Given the description of an element on the screen output the (x, y) to click on. 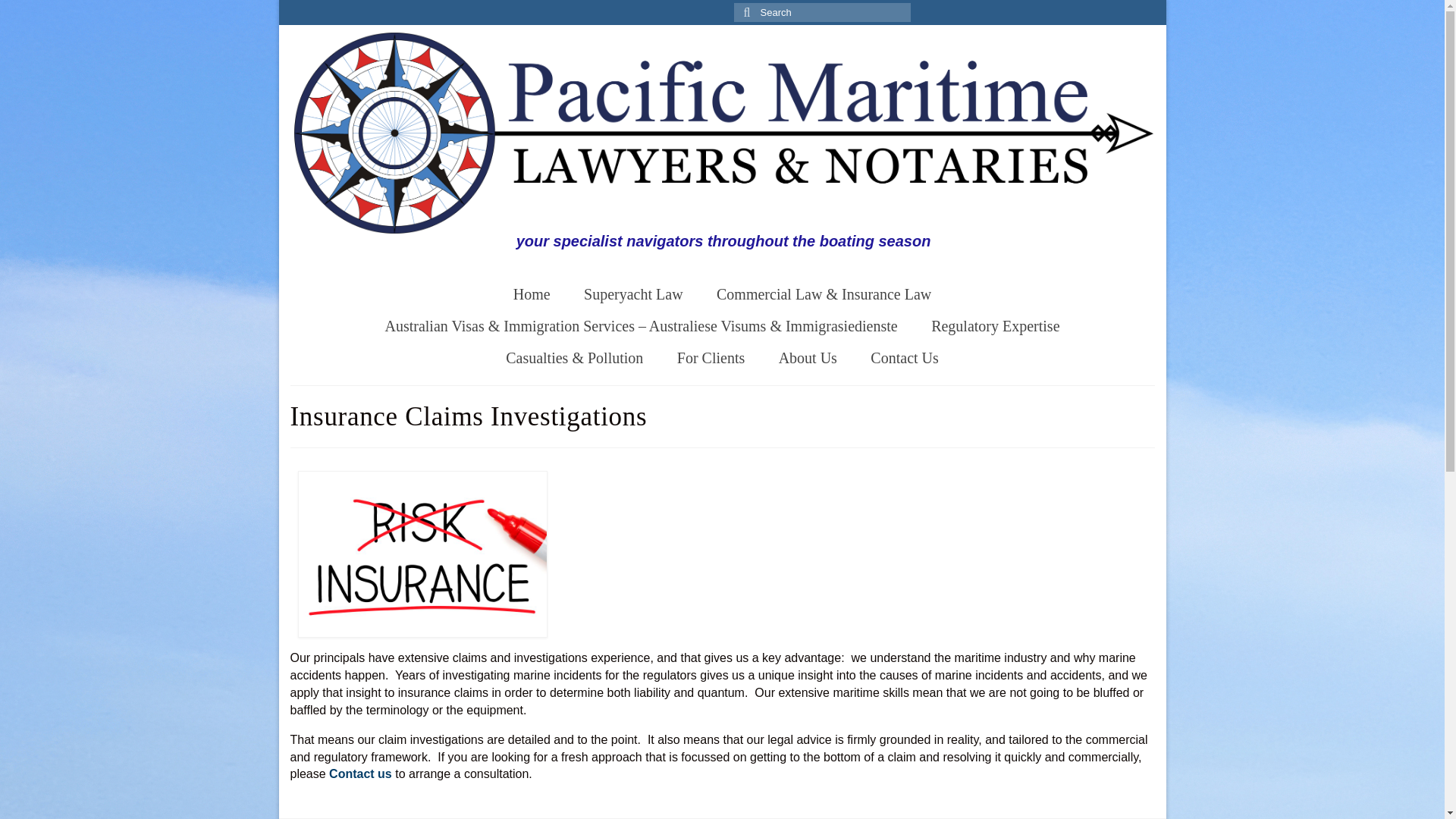
Home (531, 294)
Superyacht Law (633, 294)
Regulatory Expertise (994, 326)
About Us (806, 357)
For Clients (711, 357)
Contact Us (904, 357)
